Given the description of an element on the screen output the (x, y) to click on. 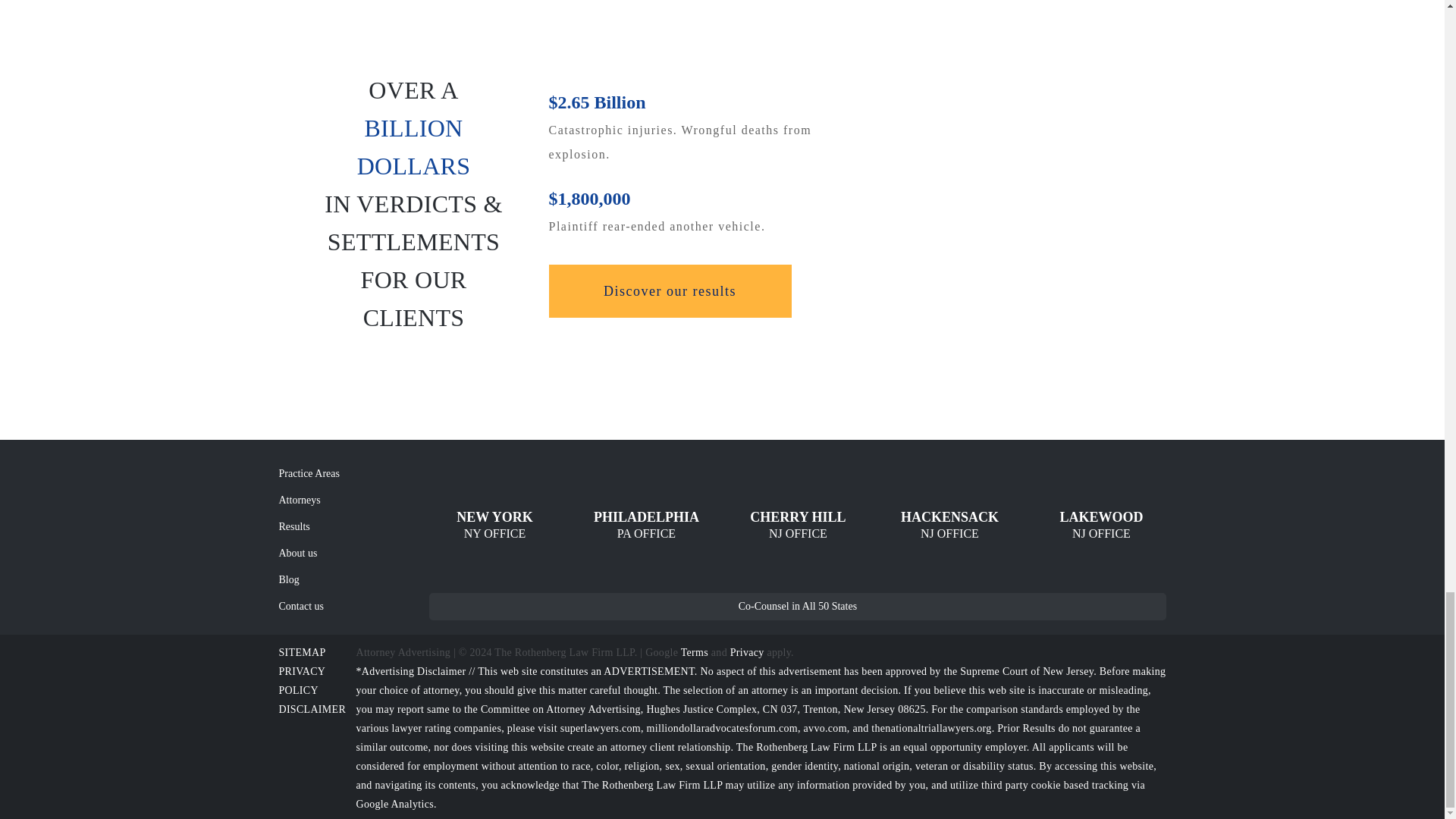
Lakewood office (1101, 525)
Hackensack office (949, 525)
New York office (494, 525)
Philadelphia office (645, 525)
Cherry Hill office (797, 525)
